Given the description of an element on the screen output the (x, y) to click on. 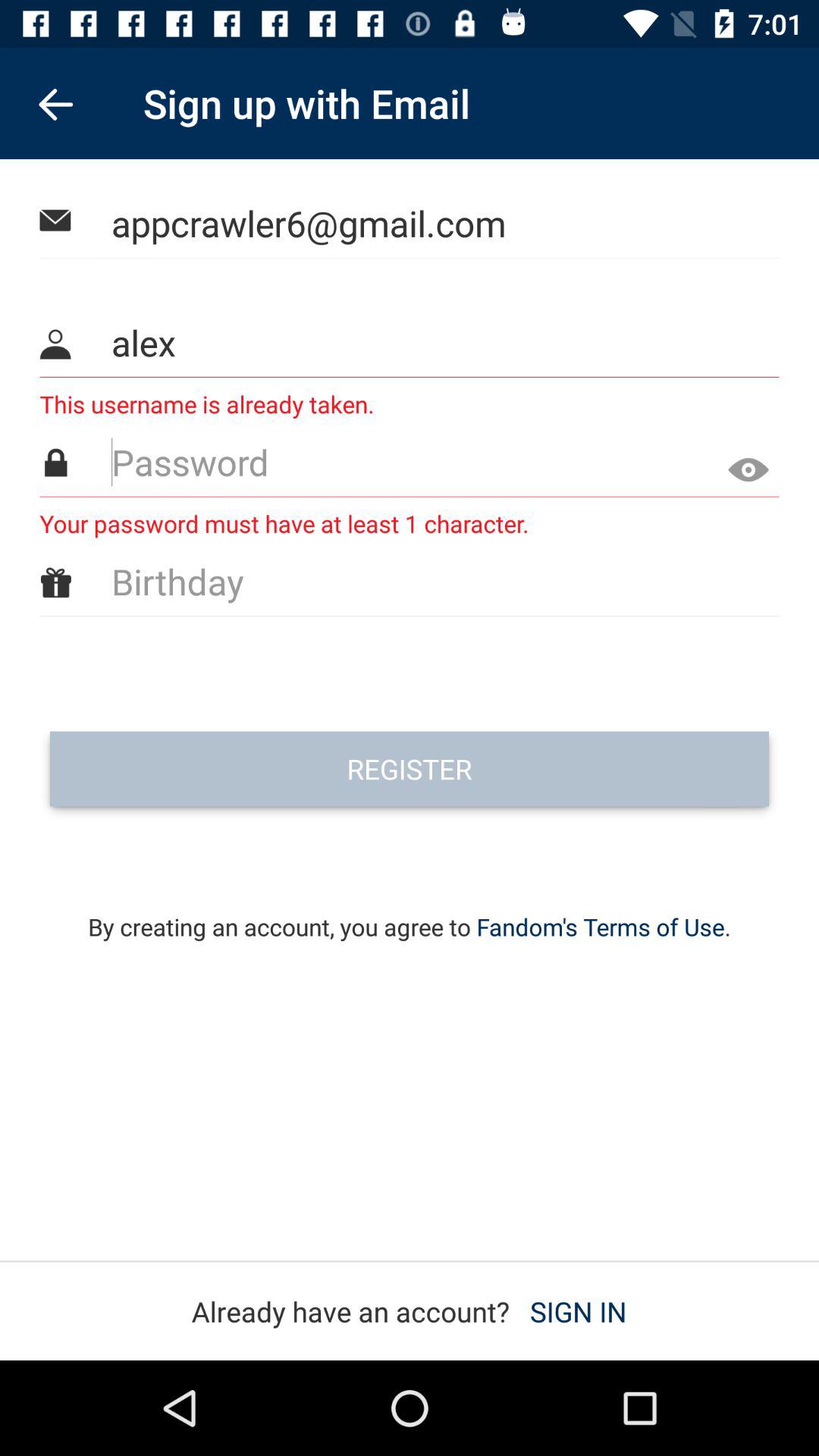
click the already have an icon (408, 1311)
